Given the description of an element on the screen output the (x, y) to click on. 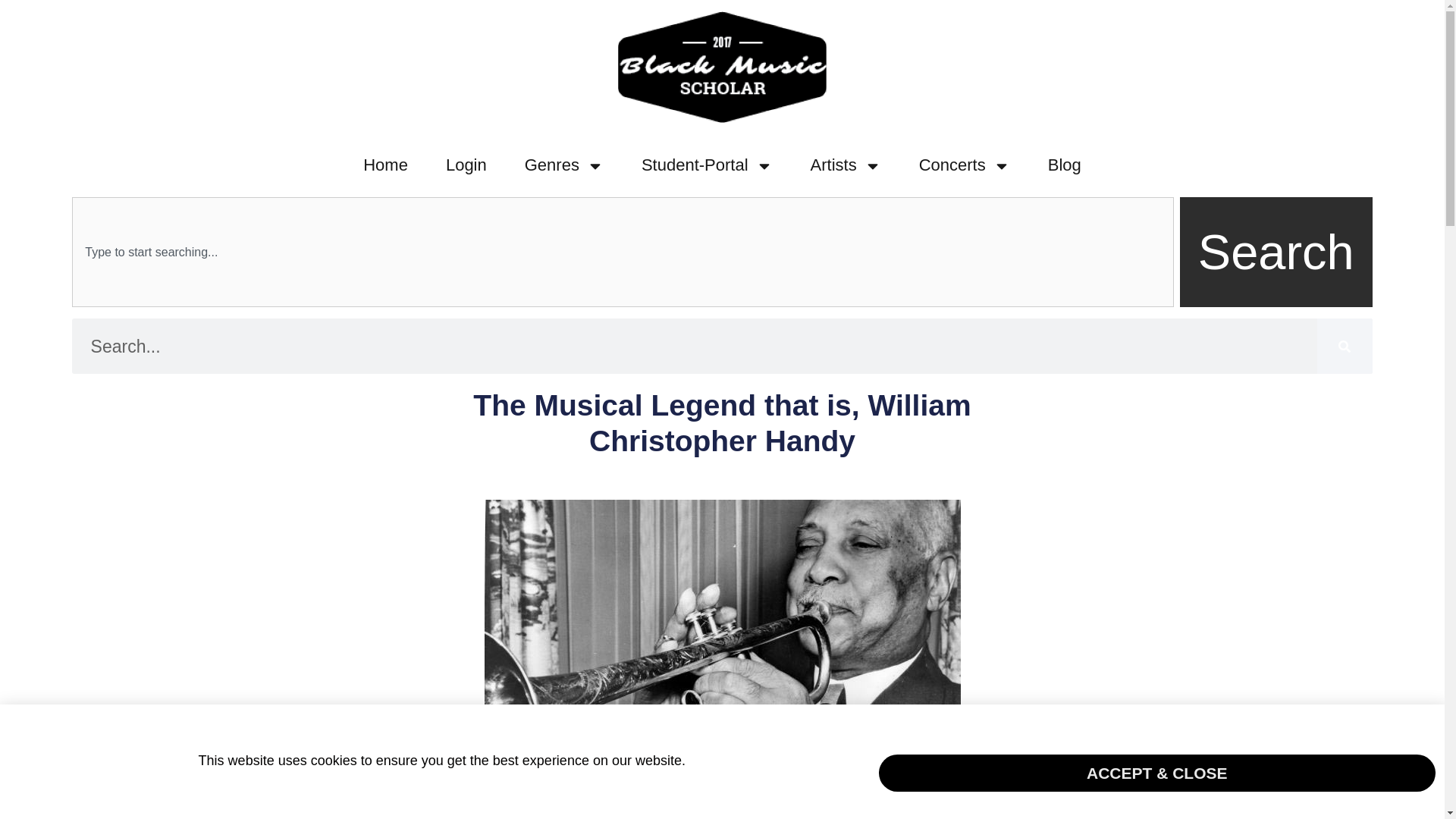
Home (385, 165)
Genres (564, 165)
Student-Portal (706, 165)
Login (466, 165)
